Given the description of an element on the screen output the (x, y) to click on. 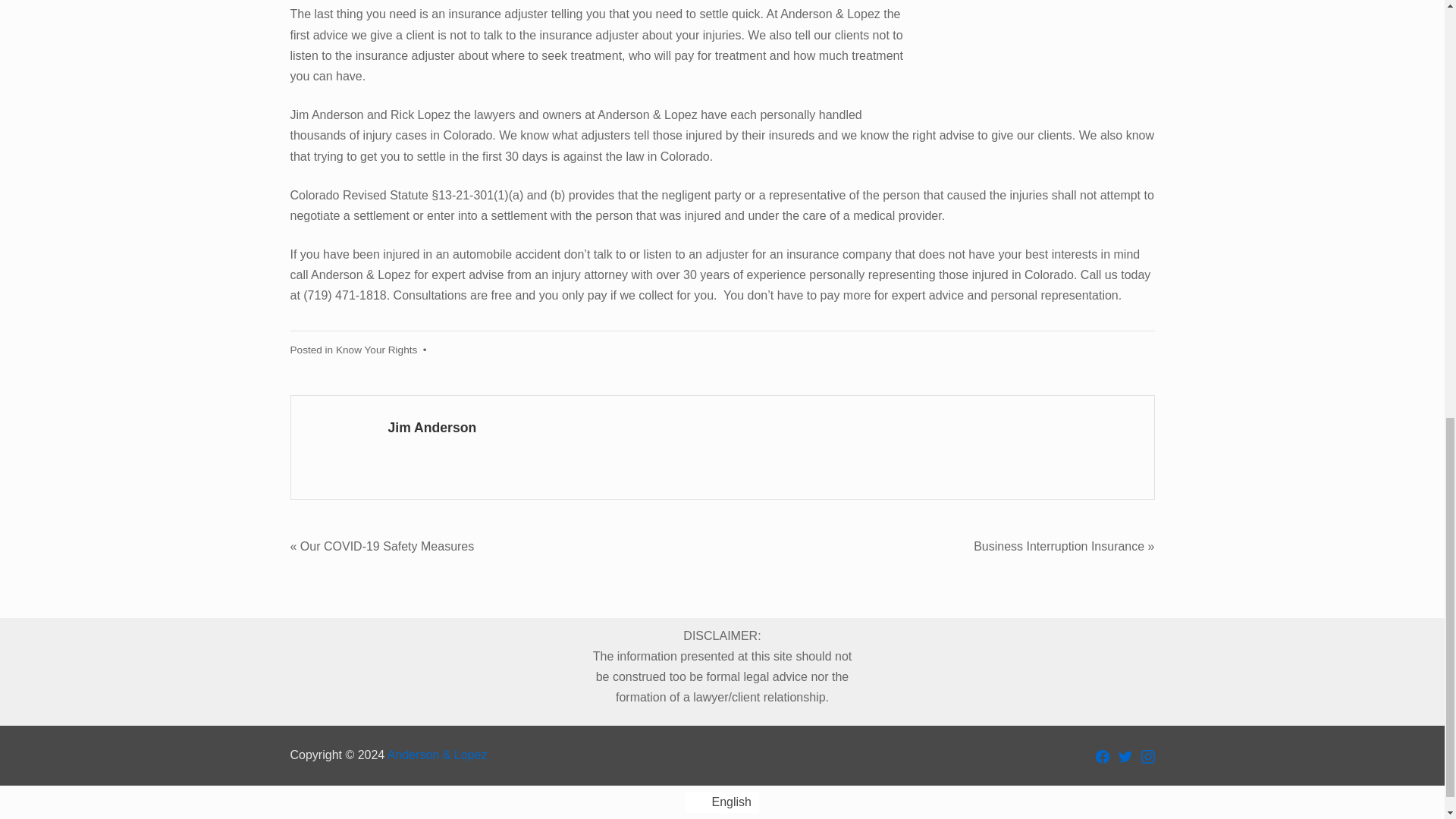
Twitter (1124, 756)
Facebook (1101, 755)
Facebook (1101, 756)
Instagram (1147, 755)
Instagram (1147, 756)
Know Your Rights (376, 349)
Jim Anderson (432, 427)
Posts by Jim Anderson (432, 427)
Twitter (1124, 755)
English (721, 803)
